Given the description of an element on the screen output the (x, y) to click on. 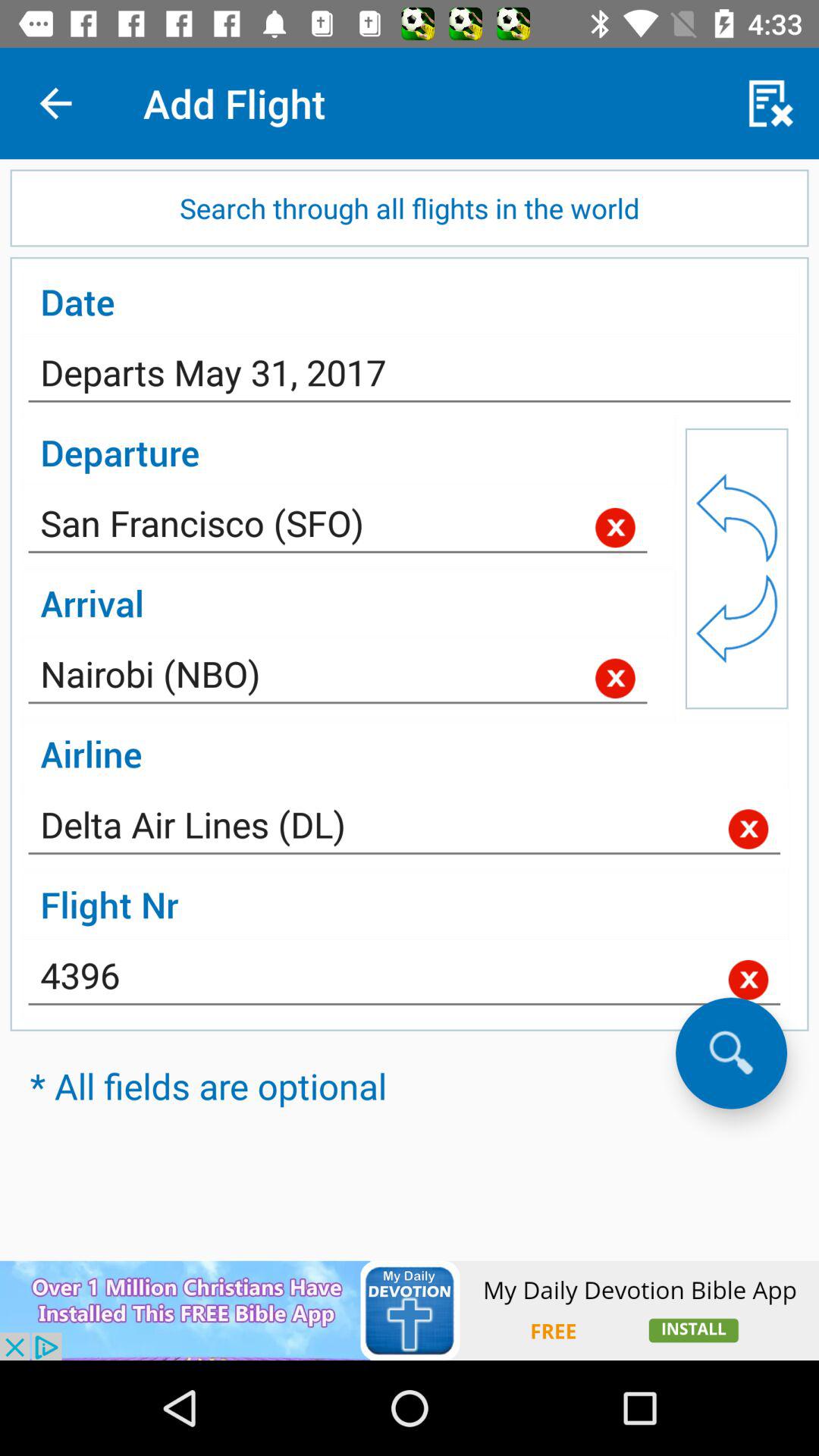
install app (409, 1310)
